Given the description of an element on the screen output the (x, y) to click on. 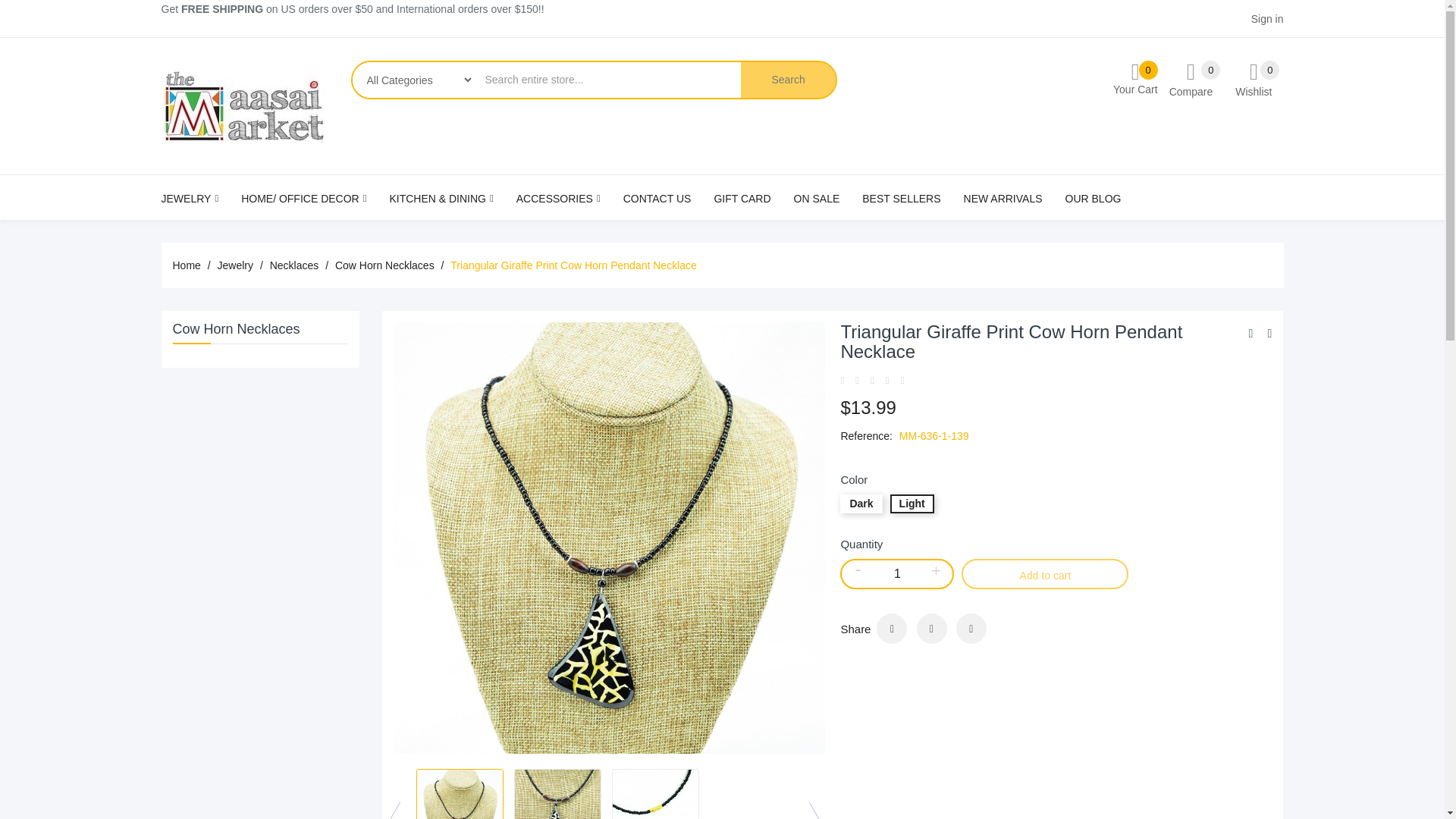
Triangular Giraffe Print Cow Horn Pendant Necklace (459, 794)
Triangular Giraffe Print Cow Horn Pendant Necklace (654, 794)
Triangular Giraffe Print Cow Horn Pendant Necklace (557, 794)
Triangular Giraffe Print Cow Horn Pendant Necklace (1252, 79)
1 (1190, 79)
Search (891, 628)
Pinterest (896, 573)
Tweet (787, 79)
